Given the description of an element on the screen output the (x, y) to click on. 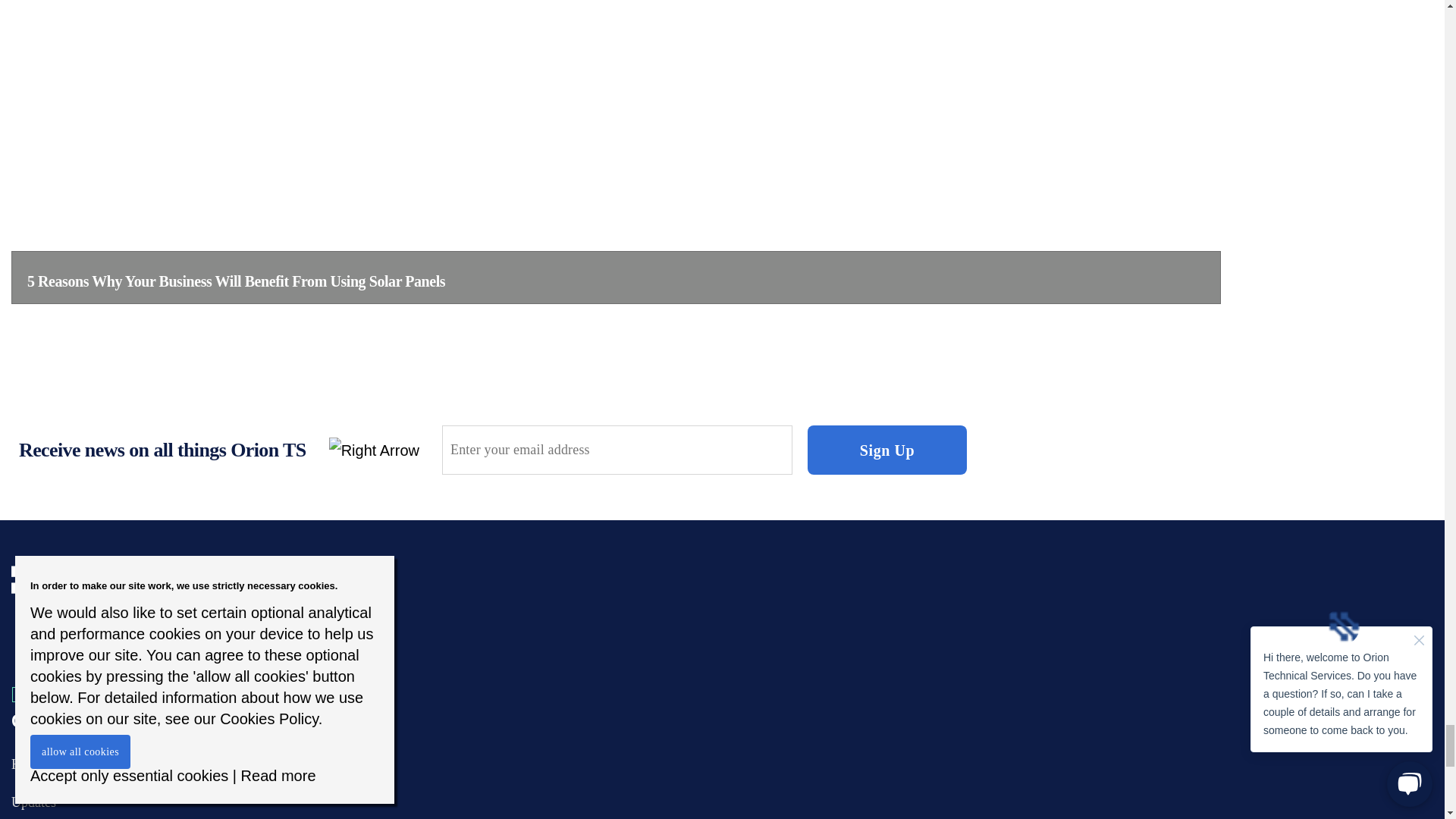
Sign Up (887, 450)
